Given the description of an element on the screen output the (x, y) to click on. 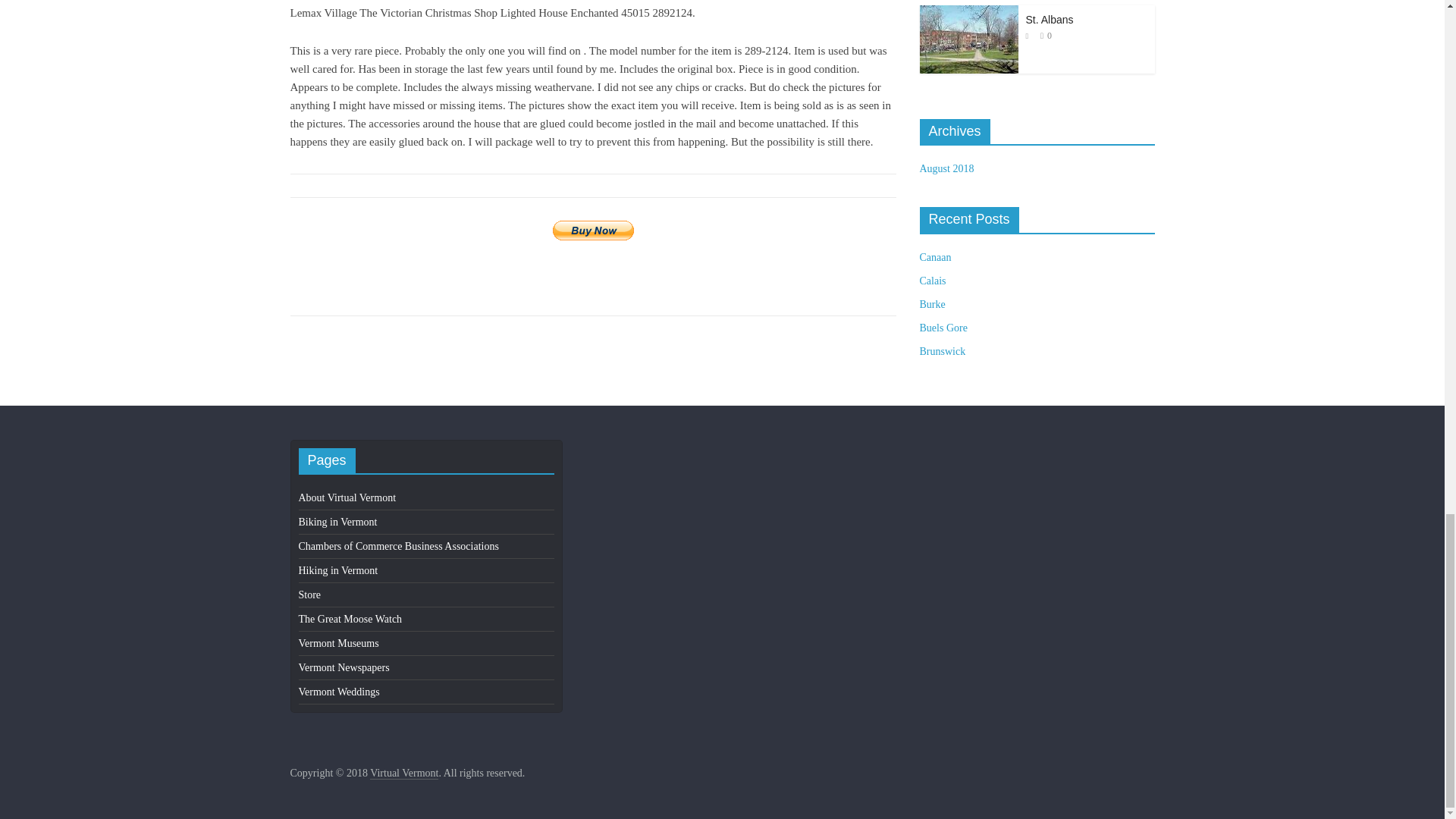
Buy Now (593, 230)
